Given the description of an element on the screen output the (x, y) to click on. 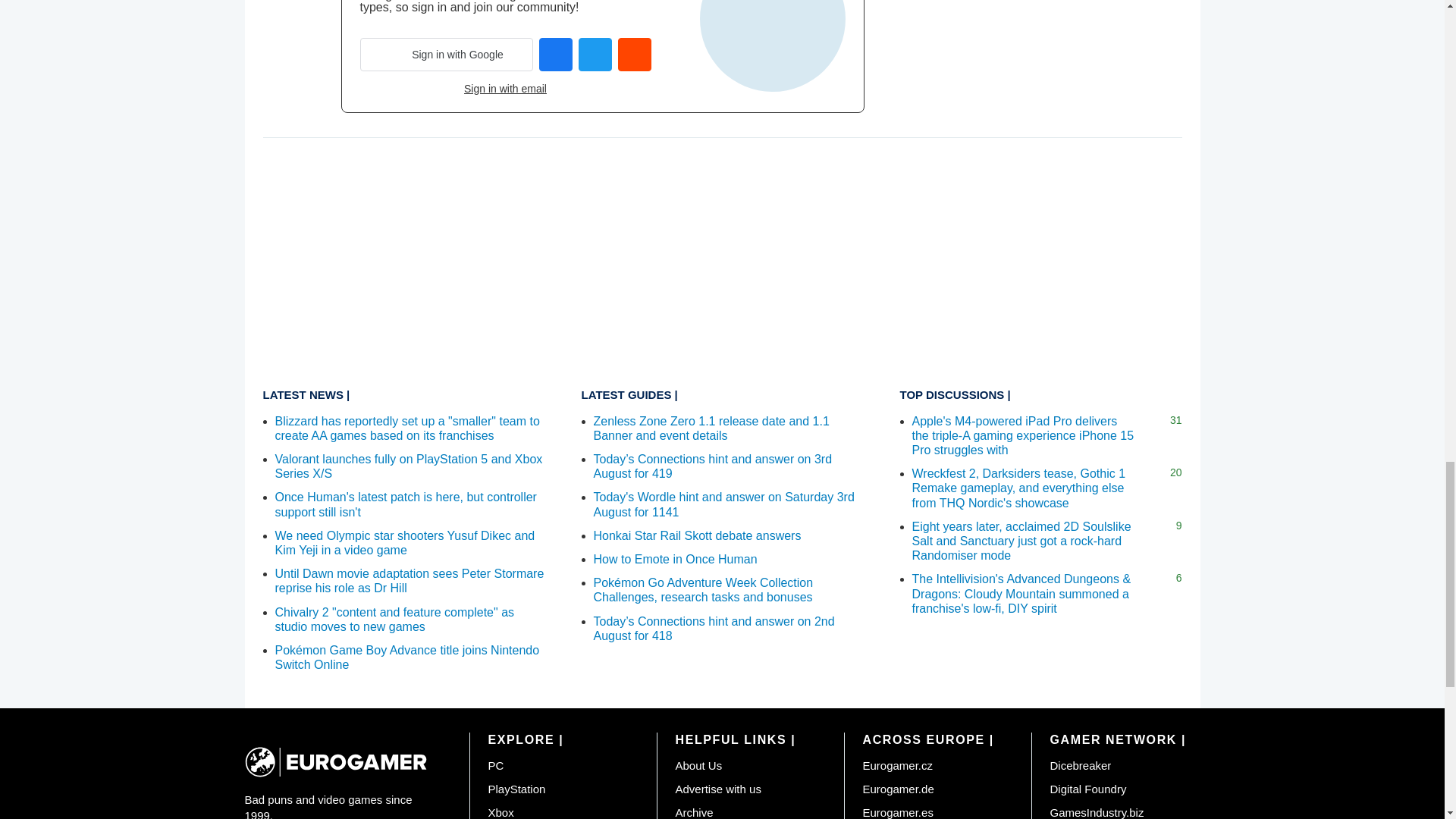
Sign in with email (504, 88)
Sign in with Google (445, 54)
